Given the description of an element on the screen output the (x, y) to click on. 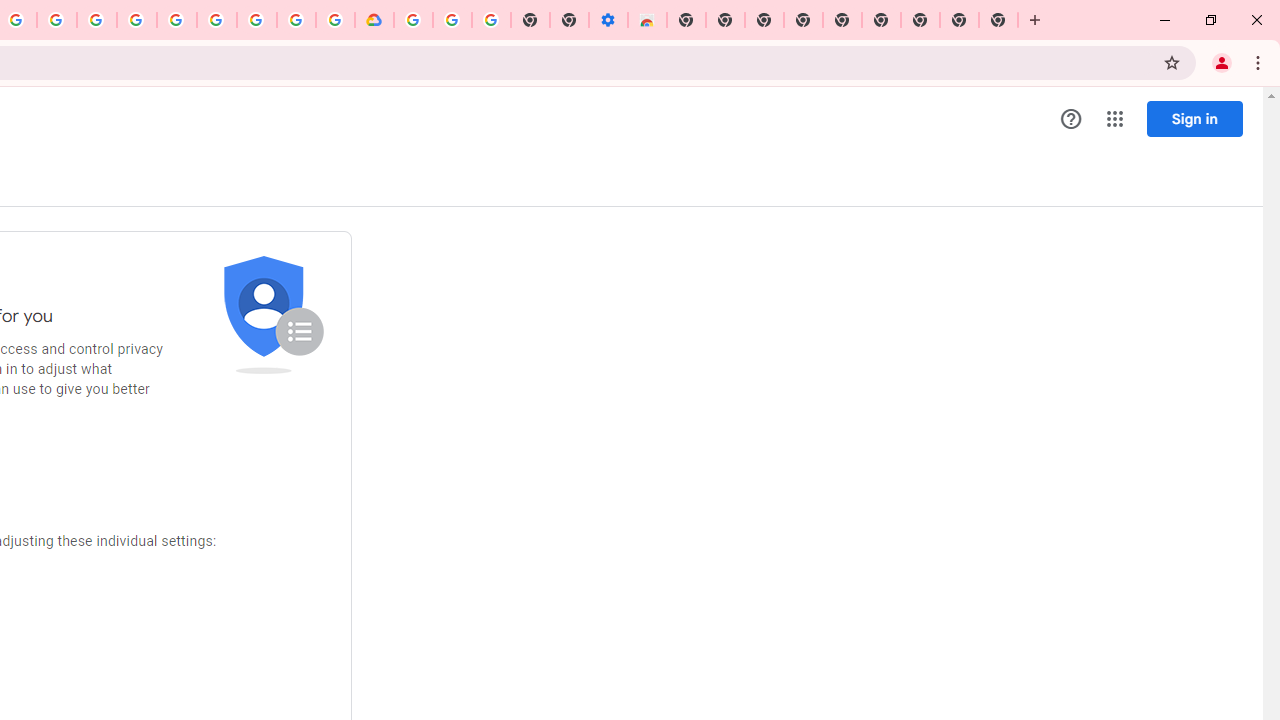
Browse the Google Chrome Community - Google Chrome Community (335, 20)
Ad Settings (96, 20)
Chrome Web Store - Accessibility extensions (647, 20)
Sign in - Google Accounts (413, 20)
New Tab (686, 20)
Turn cookies on or off - Computer - Google Account Help (491, 20)
Google Account Help (216, 20)
Settings - Accessibility (608, 20)
